Given the description of an element on the screen output the (x, y) to click on. 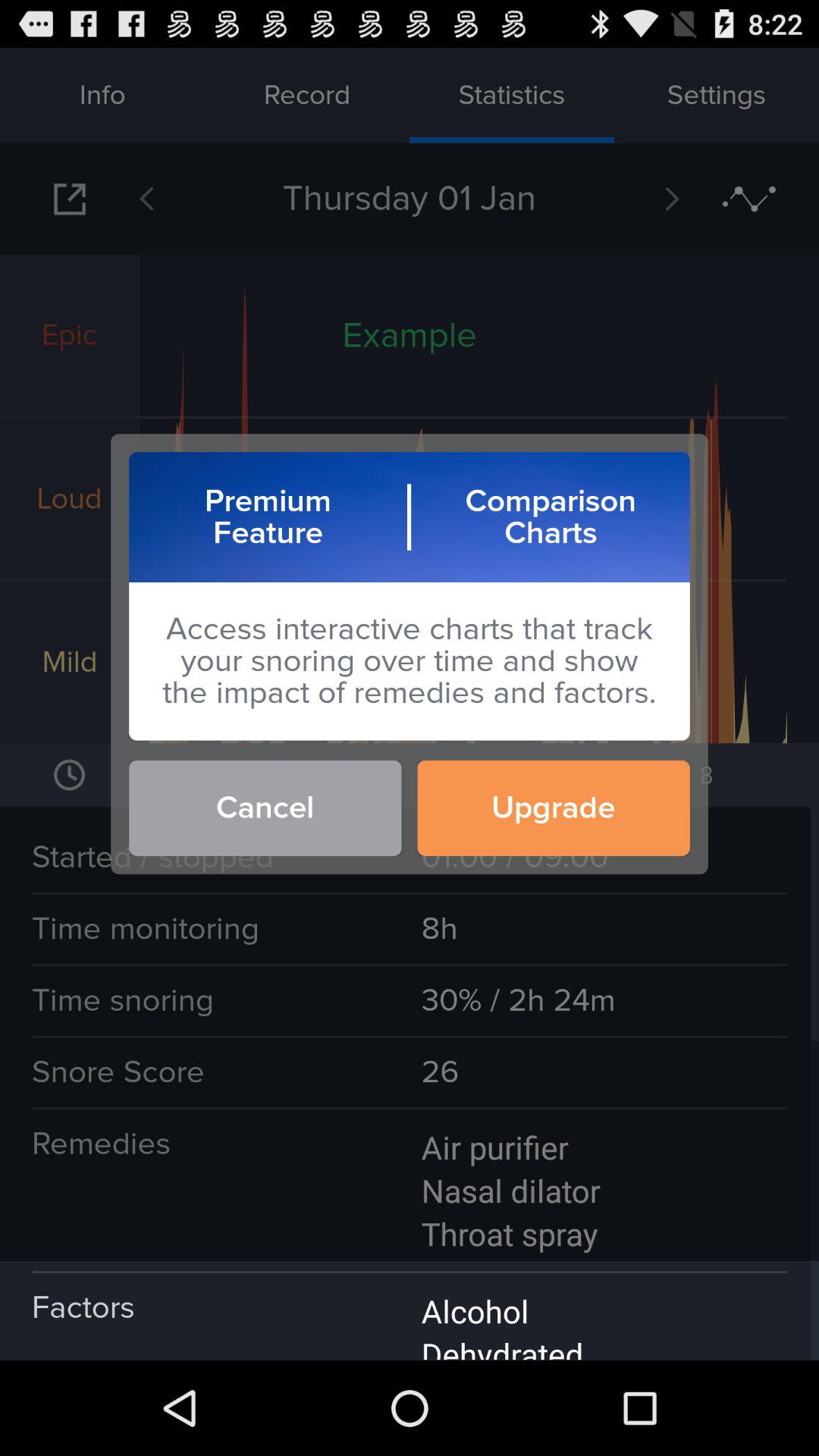
choose upgrade (553, 807)
